Given the description of an element on the screen output the (x, y) to click on. 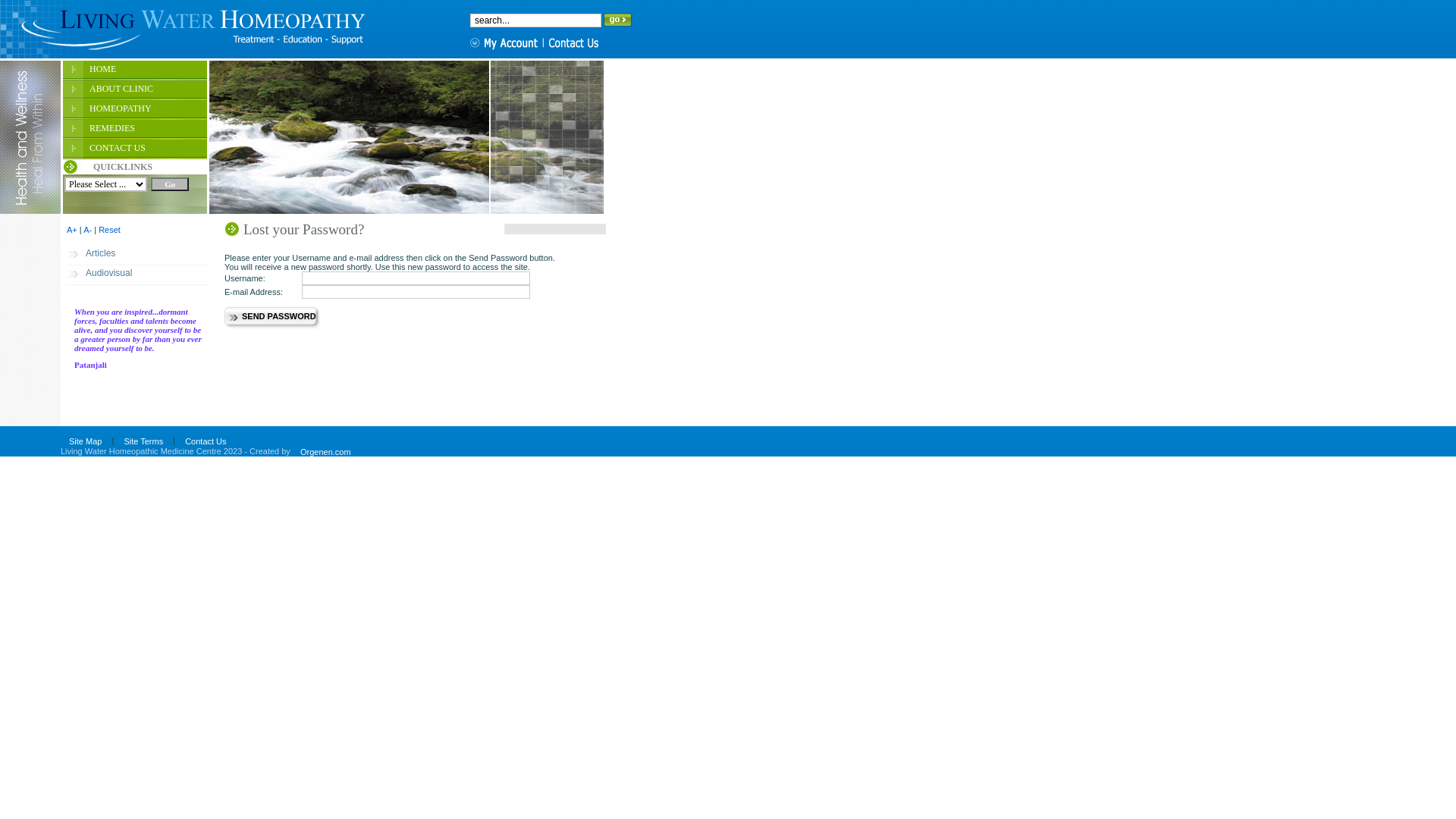
HOMEOPATHY Element type: text (134, 109)
Send Password Element type: text (279, 317)
Contact Us Element type: text (205, 440)
A+ Element type: text (71, 229)
Site Map Element type: text (85, 440)
A- Element type: text (87, 229)
Go Element type: text (169, 184)
REMEDIES Element type: text (134, 129)
Audiovisual Element type: text (137, 274)
HOME Element type: text (134, 70)
Orgenen.com Element type: text (325, 451)
Reset Element type: text (109, 229)
CONTACT US Element type: text (134, 149)
Site Terms Element type: text (143, 440)
Articles Element type: text (137, 254)
ABOUT CLINIC Element type: text (134, 90)
